Given the description of an element on the screen output the (x, y) to click on. 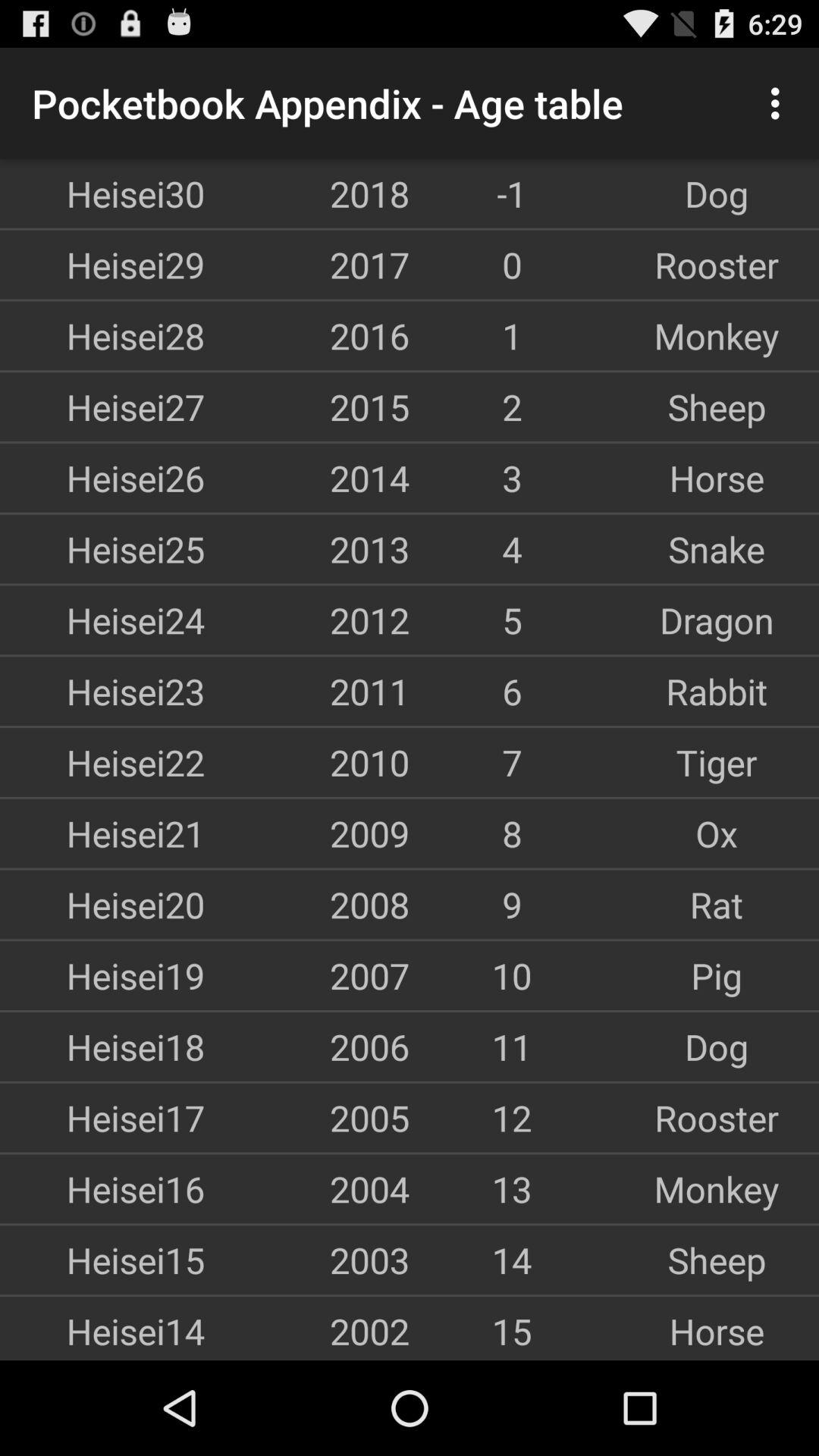
launch the item to the left of the 2017 item (102, 264)
